Given the description of an element on the screen output the (x, y) to click on. 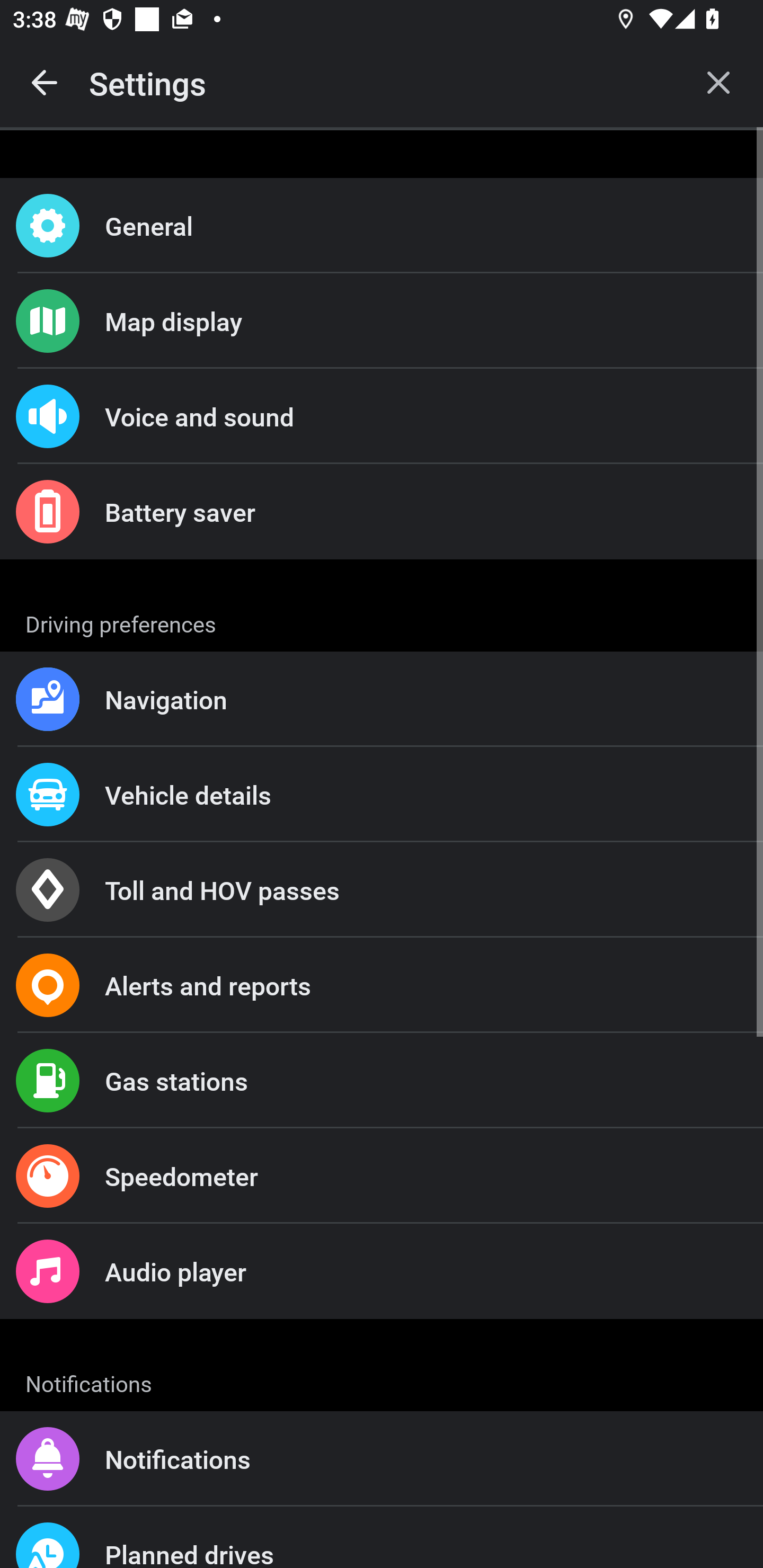
General (381, 225)
Map display (381, 320)
Voice and sound (381, 416)
Battery saver (381, 511)
Navigation (381, 699)
Vehicle details (381, 794)
Toll and HOV passes (381, 889)
Alerts and reports (381, 985)
Gas stations (381, 1080)
Speedometer (381, 1175)
Audio player (381, 1270)
Home 255 W 94th St, Manhattan (381, 1368)
Notifications (381, 1458)
Planned drives (381, 1537)
